Given the description of an element on the screen output the (x, y) to click on. 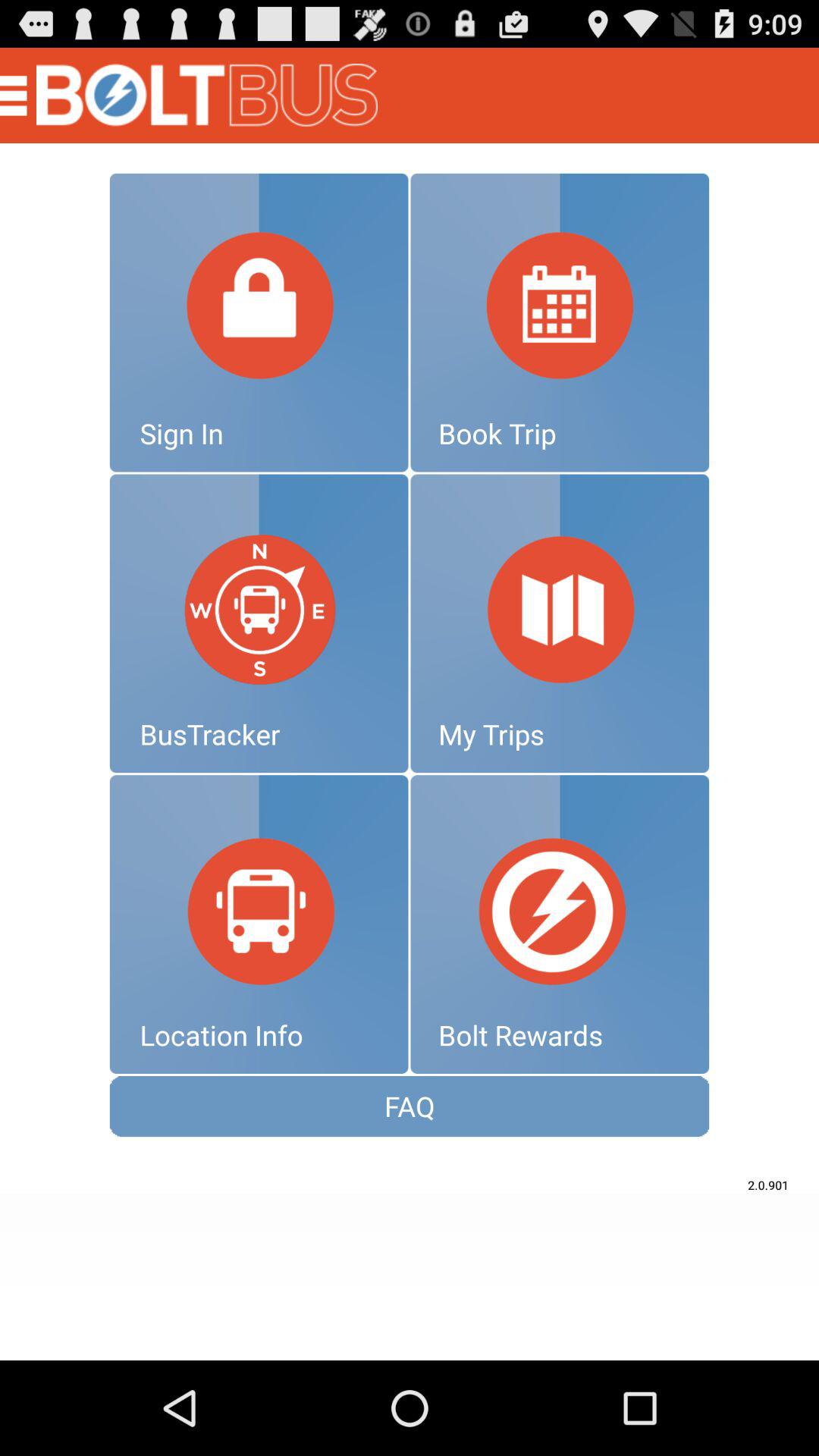
my trips (559, 623)
